Given the description of an element on the screen output the (x, y) to click on. 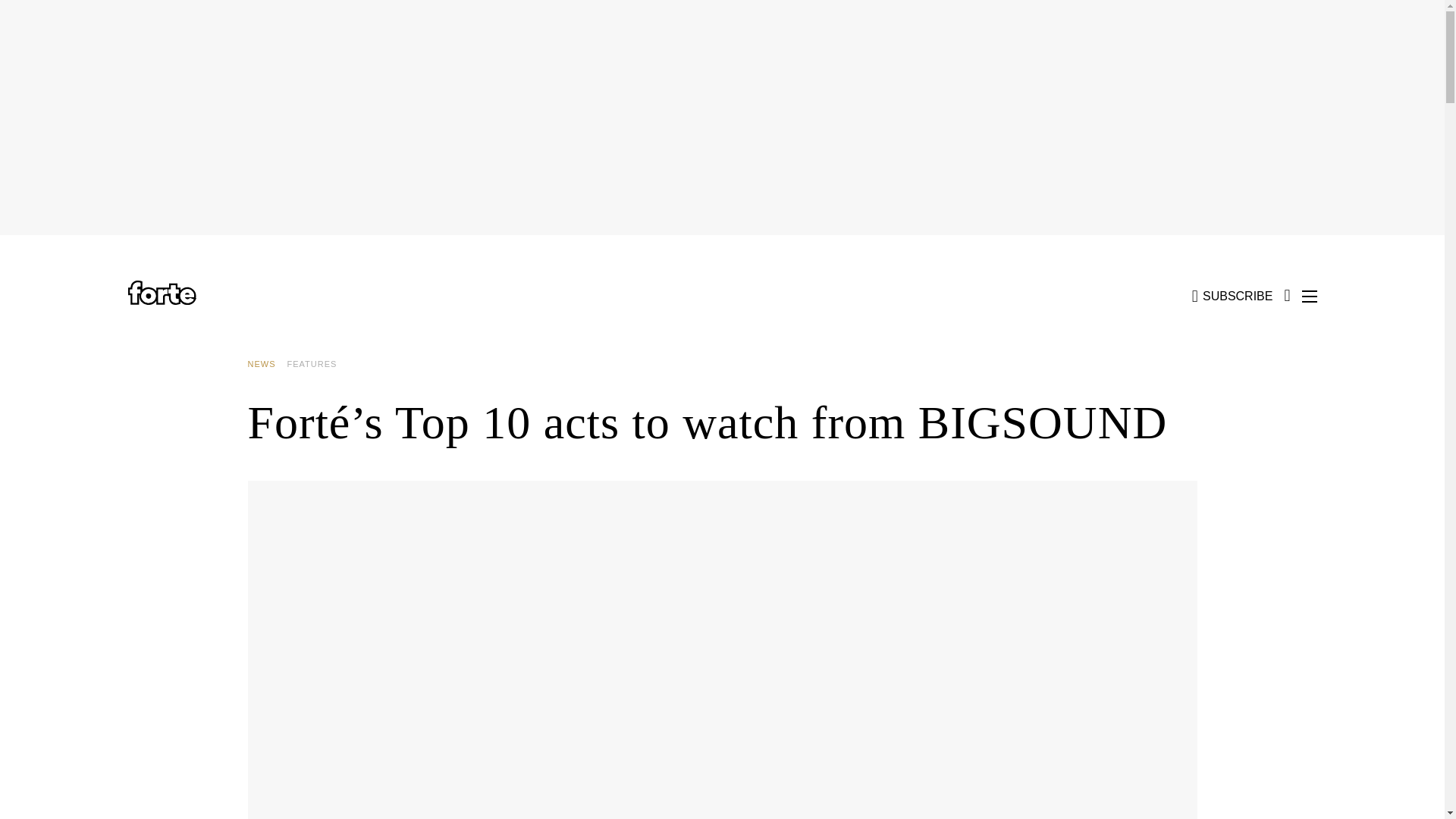
FEATURES (316, 364)
NEWS (266, 364)
